Given the description of an element on the screen output the (x, y) to click on. 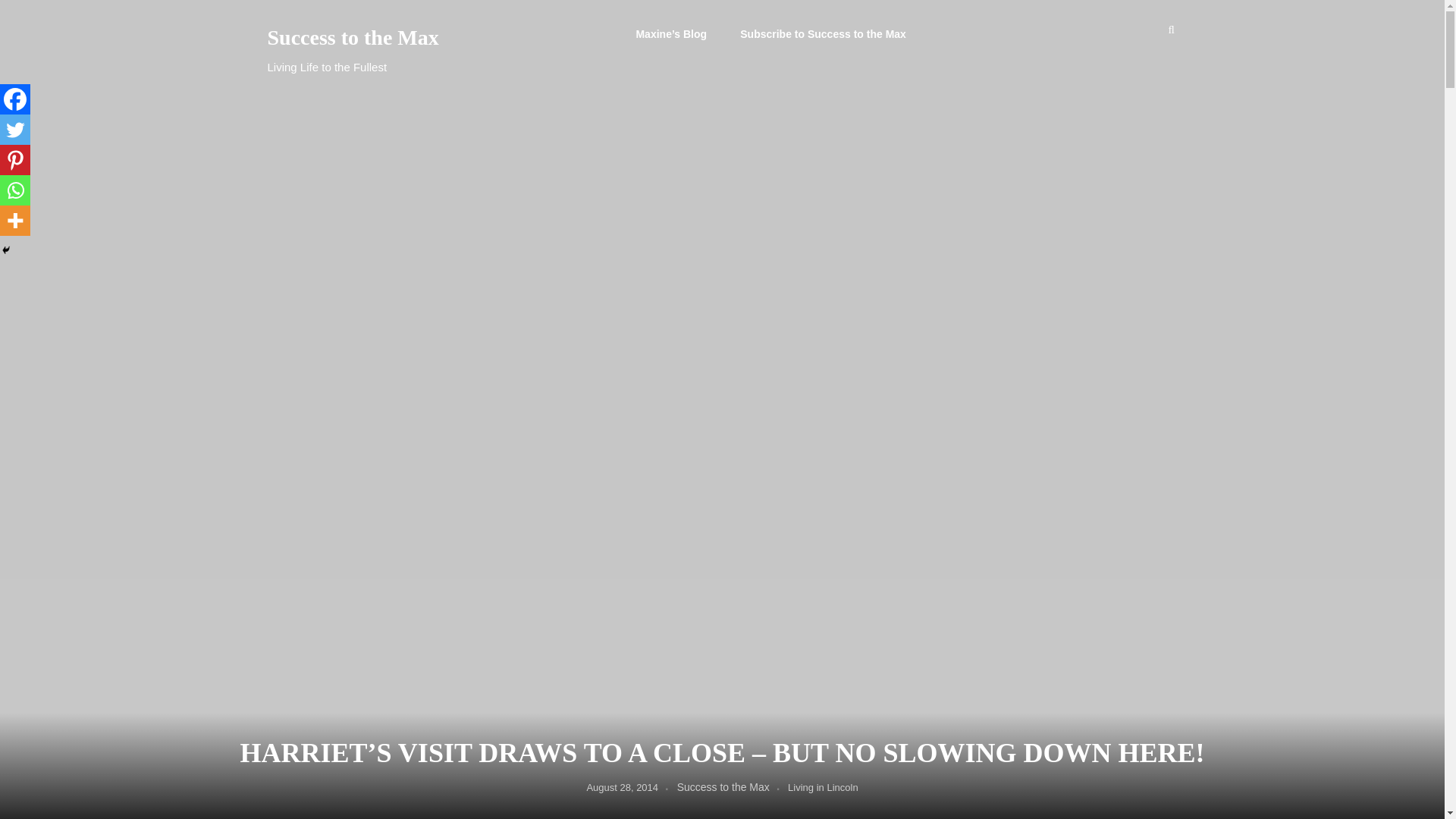
Hide (5, 250)
Success to the Max (403, 37)
Success to the Max (723, 787)
Whatsapp (15, 190)
Pinterest (15, 159)
Subscribe to Success to the Max (823, 33)
Search (769, 433)
August 28, 2014 (622, 787)
Twitter (15, 129)
More (15, 220)
